Given the description of an element on the screen output the (x, y) to click on. 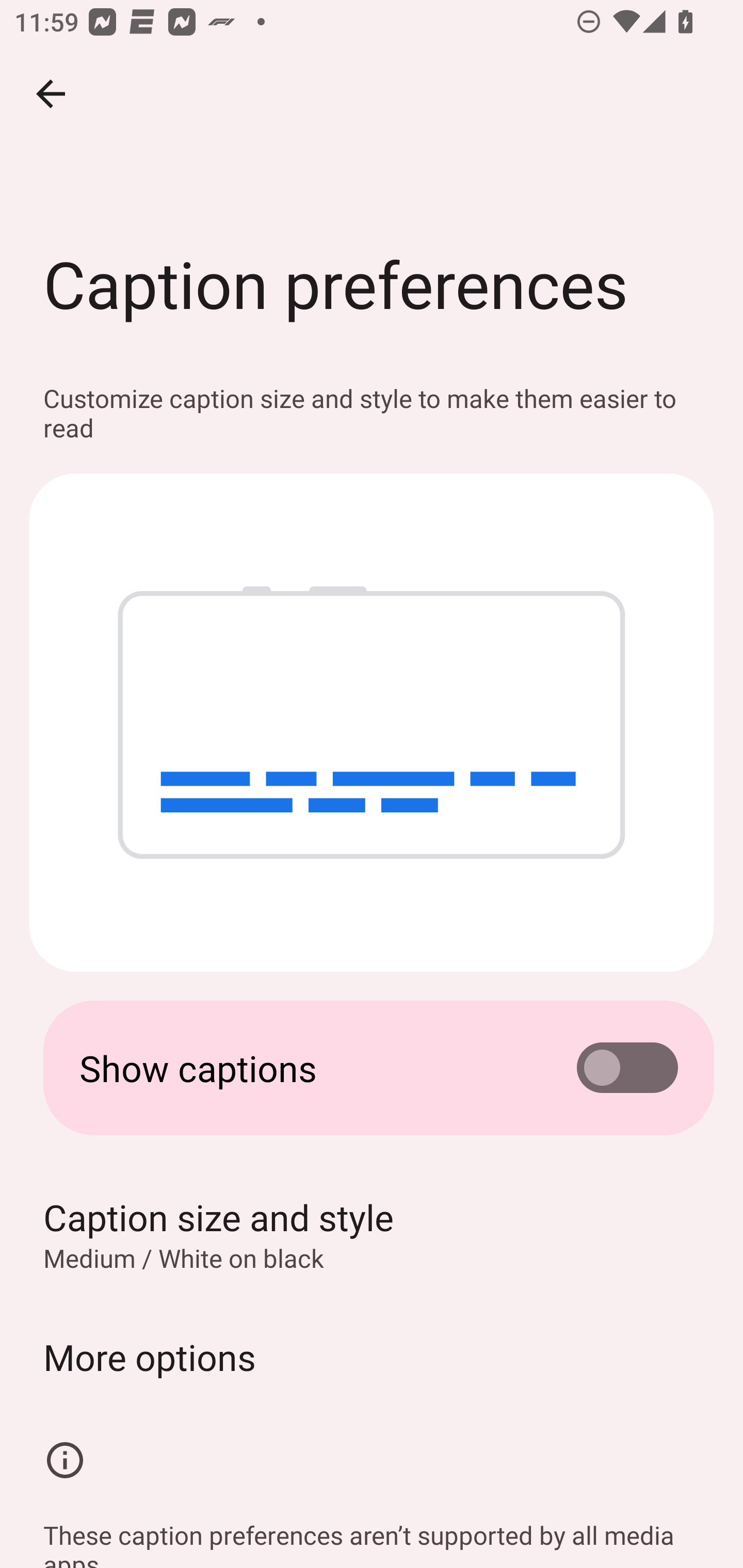
Navigate up (50, 93)
Show captions (371, 1067)
Caption size and style Medium / White on black (371, 1233)
More options (371, 1356)
